Given the description of an element on the screen output the (x, y) to click on. 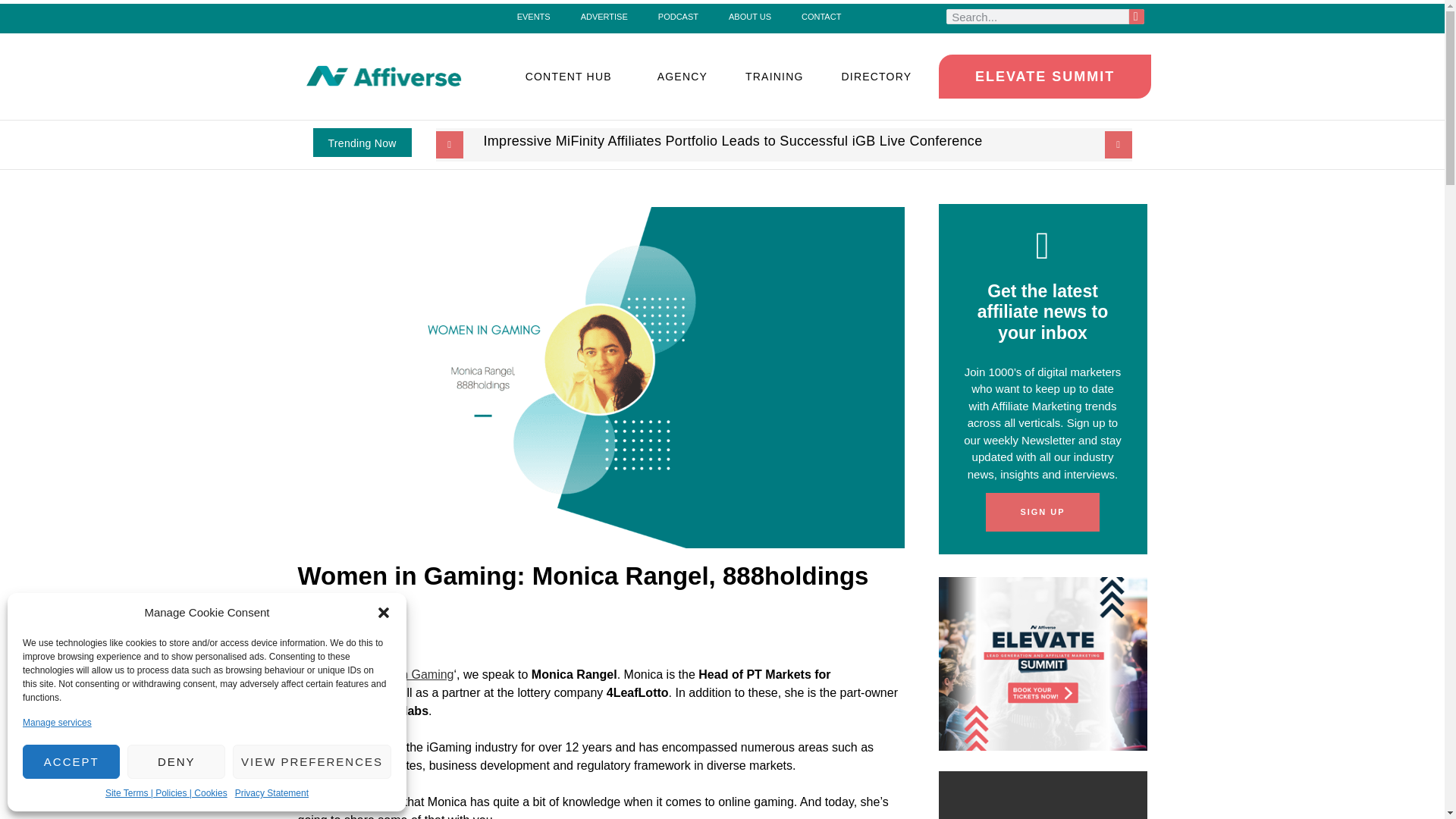
ACCEPT (71, 761)
ABOUT US (749, 16)
CONTENT HUB (572, 76)
Privacy Statement (271, 793)
CONTACT (821, 16)
DENY (176, 761)
EVENTS (534, 16)
DIRECTORY (880, 76)
AGENCY (682, 76)
PODCAST (678, 16)
VIEW PREFERENCES (311, 761)
Manage services (57, 722)
TRAINING (774, 76)
ADVERTISE (604, 16)
